Given the description of an element on the screen output the (x, y) to click on. 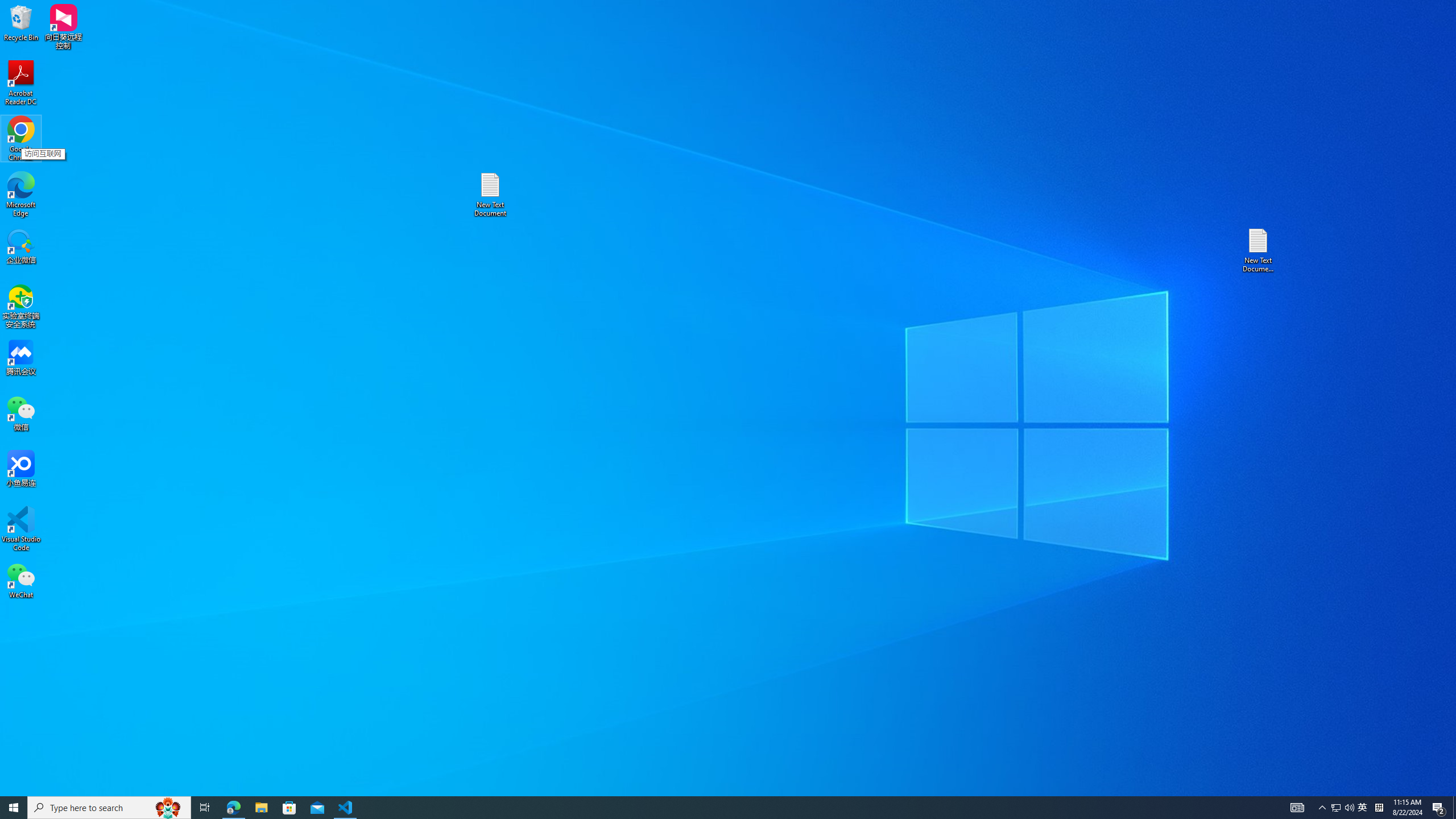
Running applications (707, 807)
Type here to search (108, 807)
Microsoft Edge (21, 194)
New Text Document (2) (1258, 250)
Search highlights icon opens search home window (167, 807)
Q2790: 100% (1349, 807)
Start (13, 807)
Task View (204, 807)
WeChat (21, 580)
Microsoft Store (289, 807)
Visual Studio Code - 1 running window (345, 807)
